Given the description of an element on the screen output the (x, y) to click on. 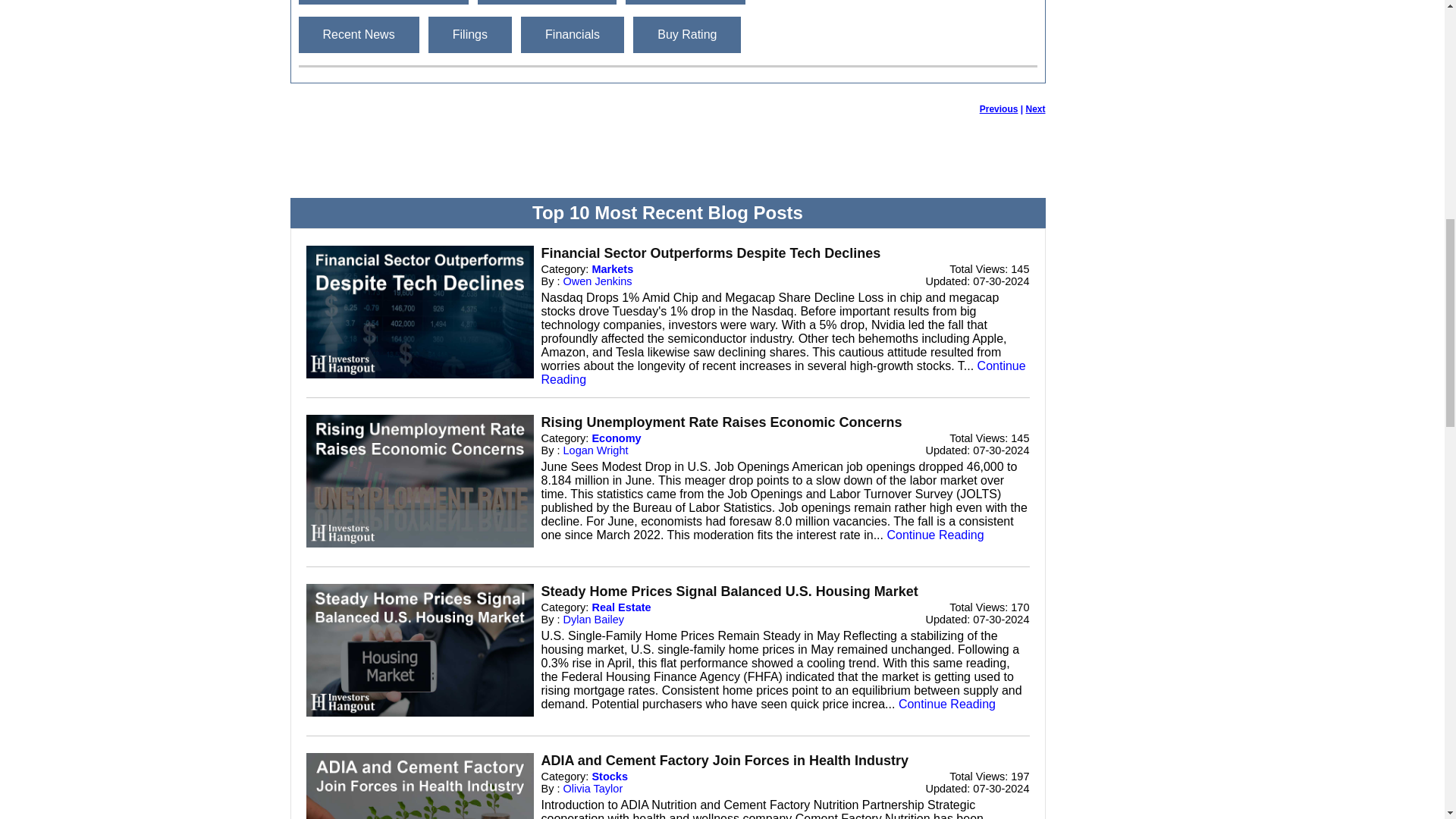
Article Author: Owen Jenkins's Profile (597, 281)
CYDY Stock Buy Rating (687, 34)
CYDY Stock Filings (470, 34)
Blog Category: Markets (612, 268)
CYDY Stock Financials (572, 34)
Article Author: Logan Wright's Profile (595, 450)
CYDY Stock Recent News (358, 34)
Blog Category: Economy (615, 438)
